Given the description of an element on the screen output the (x, y) to click on. 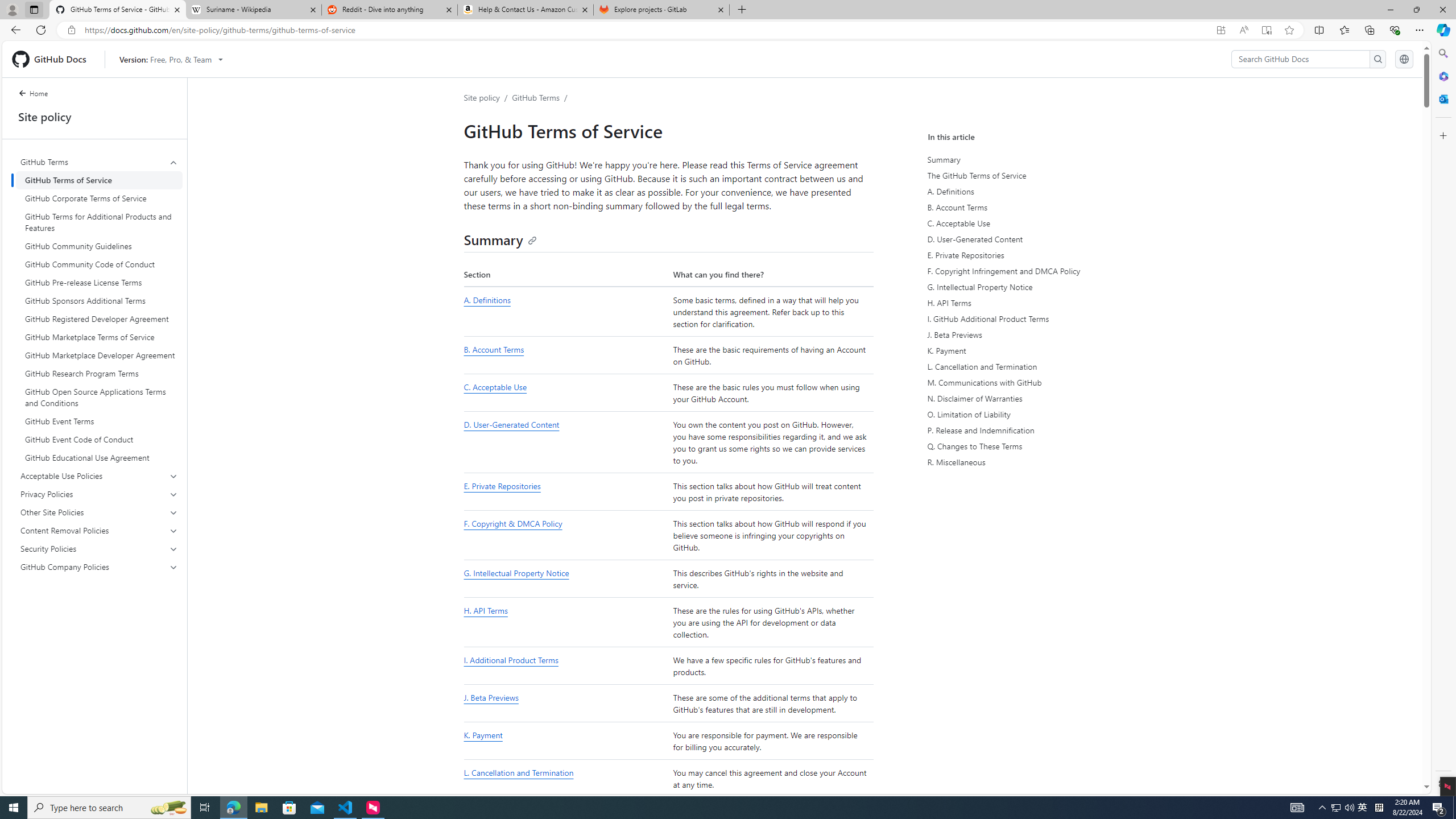
E. Private Repositories (1032, 255)
I. Additional Product Terms (511, 659)
Acceptable Use Policies (99, 475)
L. Cancellation and Termination (518, 772)
Content Removal Policies (99, 530)
C. Acceptable Use (565, 392)
GitHub Community Guidelines (99, 246)
D. User-Generated Content (1032, 239)
J. Beta Previews (565, 703)
Select language: current language is English (1403, 58)
L. Cancellation and Termination (1032, 366)
